Given the description of an element on the screen output the (x, y) to click on. 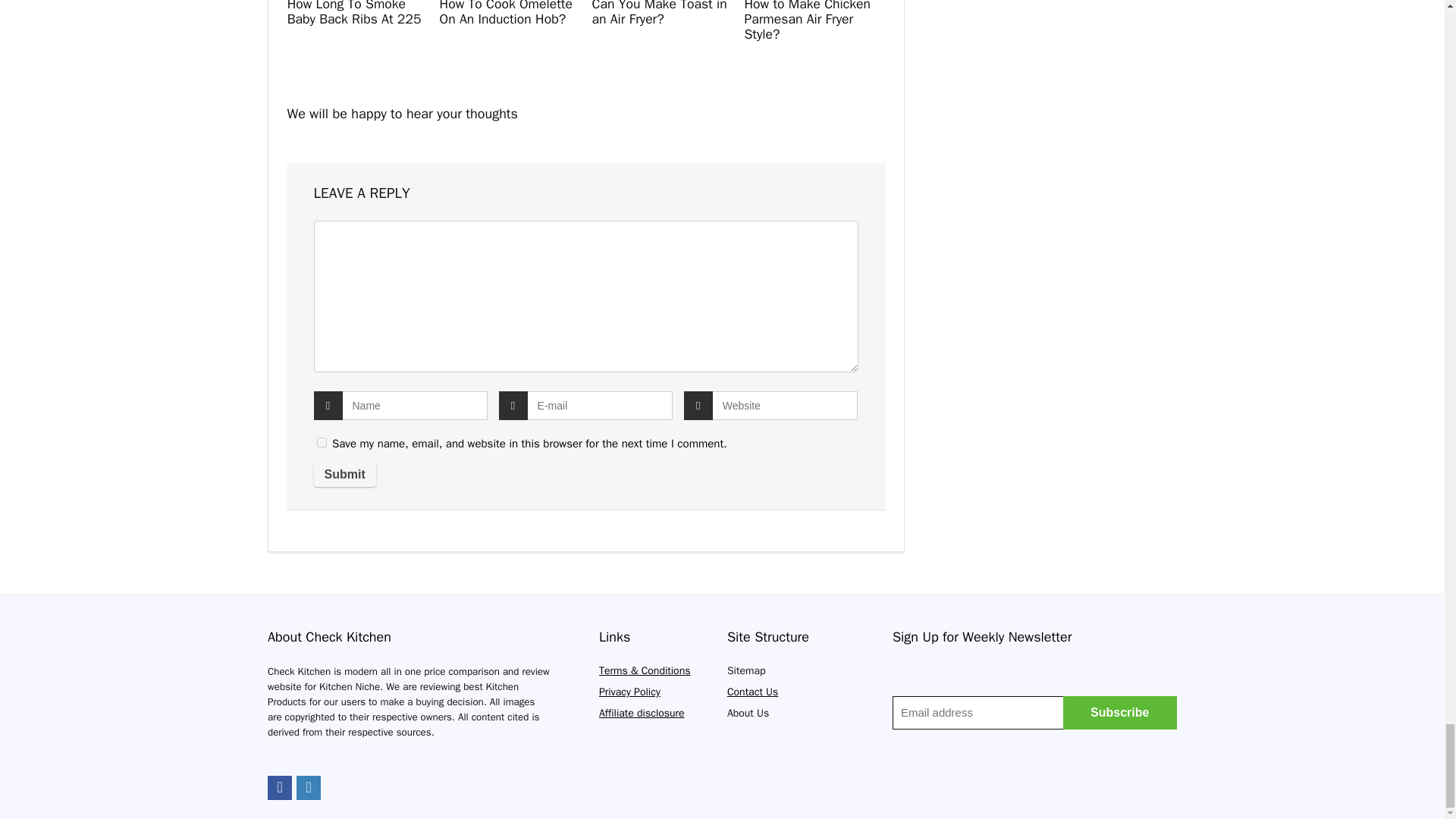
Subscribe (1119, 712)
Submit (344, 474)
How Long To Smoke Baby Back Ribs At 225 (354, 13)
How to Make Chicken Parmesan Air Fryer Style? (807, 21)
Can You Make Toast in an Air Fryer? (658, 13)
yes (321, 442)
How To Cook Omelette On An Induction Hob?  (505, 13)
